Given the description of an element on the screen output the (x, y) to click on. 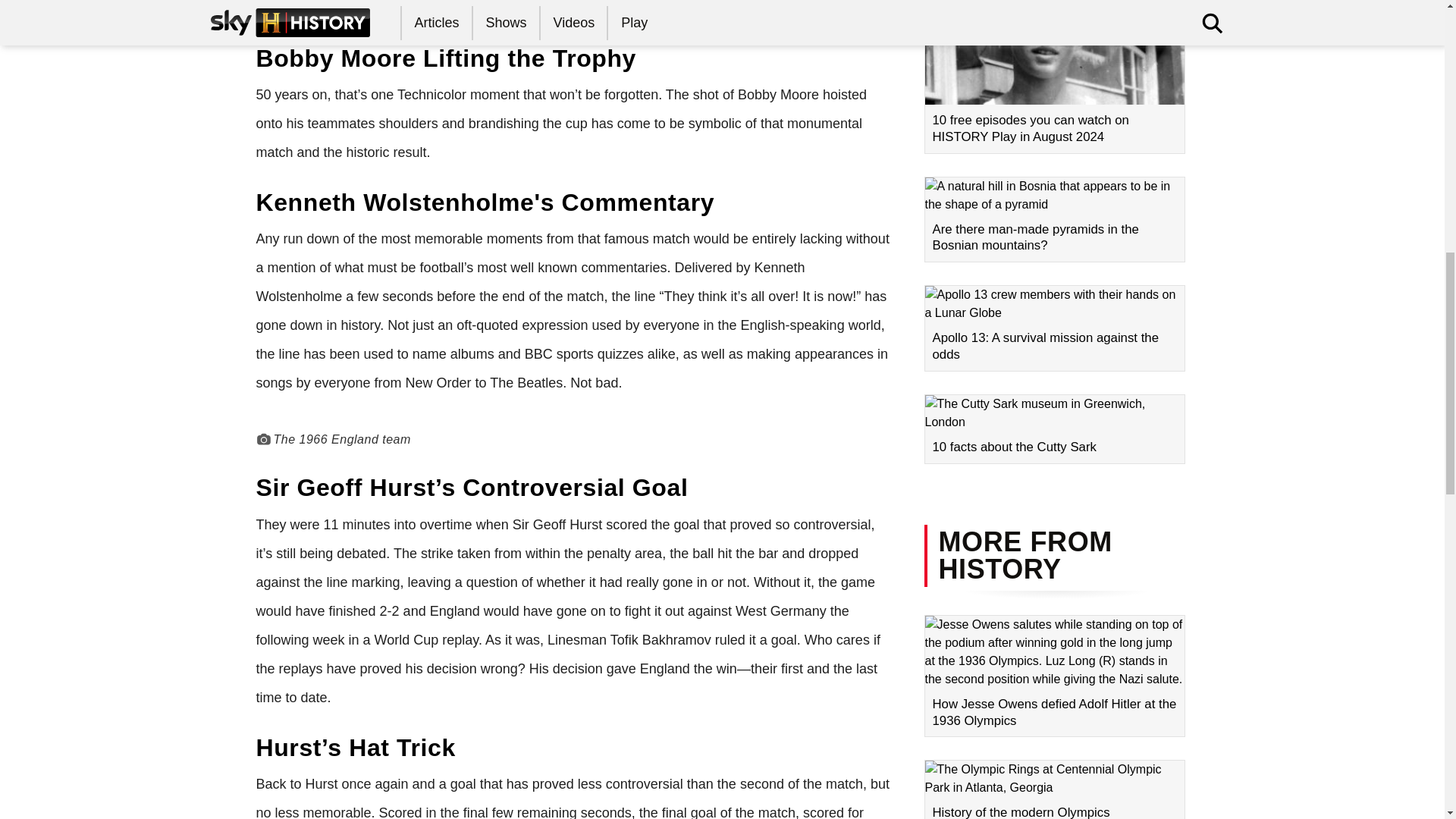
How Jesse Owens defied Adolf Hitler at the 1936 Olympics (1054, 676)
History of the modern Olympics (1054, 789)
Apollo 13: A survival mission against the odds (1054, 328)
Are there man-made pyramids in the Bosnian mountains? (1054, 219)
10 facts about the Cutty Sark (1054, 428)
